Given the description of an element on the screen output the (x, y) to click on. 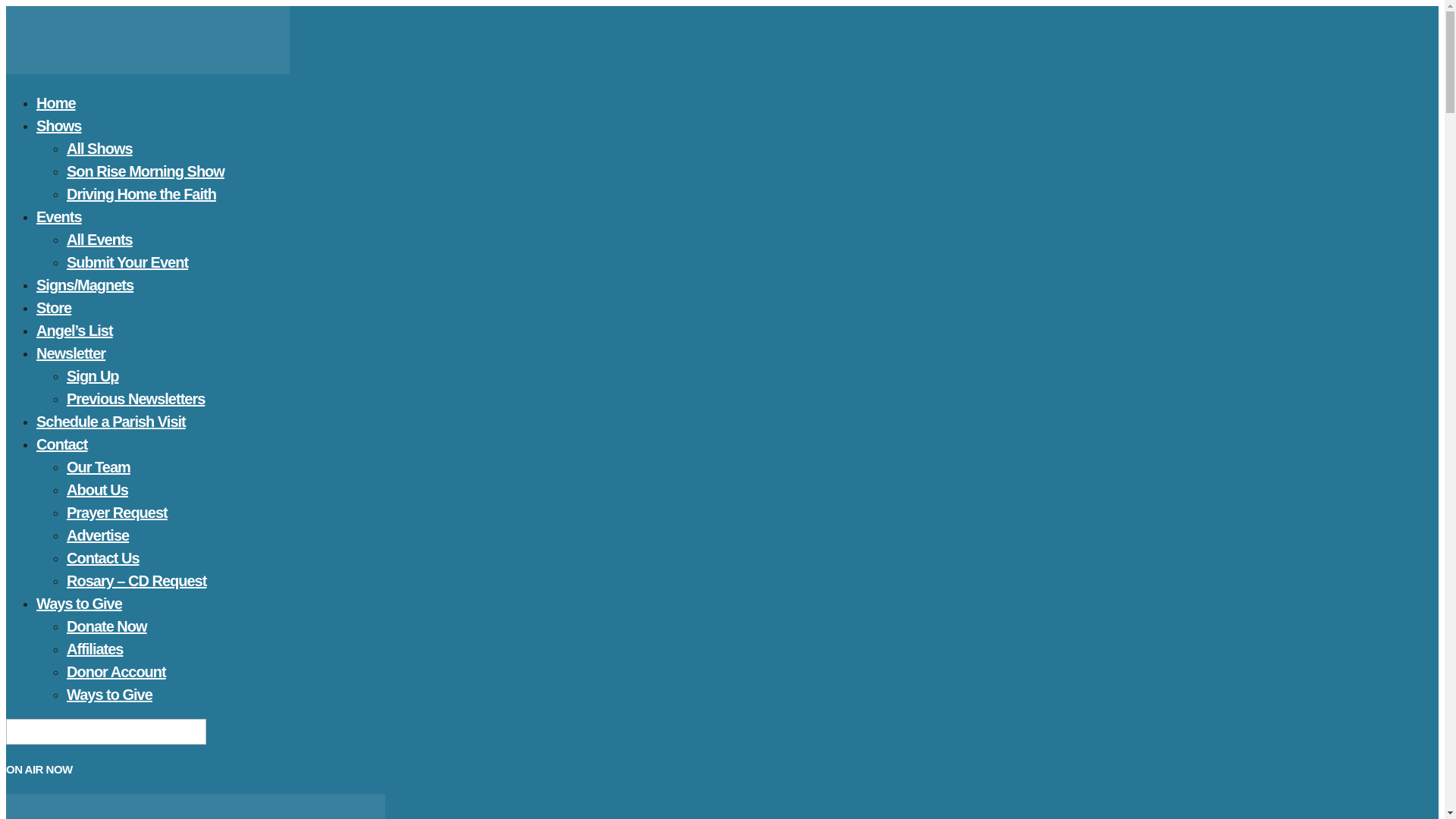
Home (55, 102)
Donate Now (106, 626)
Donor Account (115, 671)
Contact (61, 444)
Advertise (97, 535)
Ways to Give (79, 603)
Our Team (98, 466)
Store (53, 307)
Newsletter (70, 353)
Schedule a Parish Visit (111, 421)
